Given the description of an element on the screen output the (x, y) to click on. 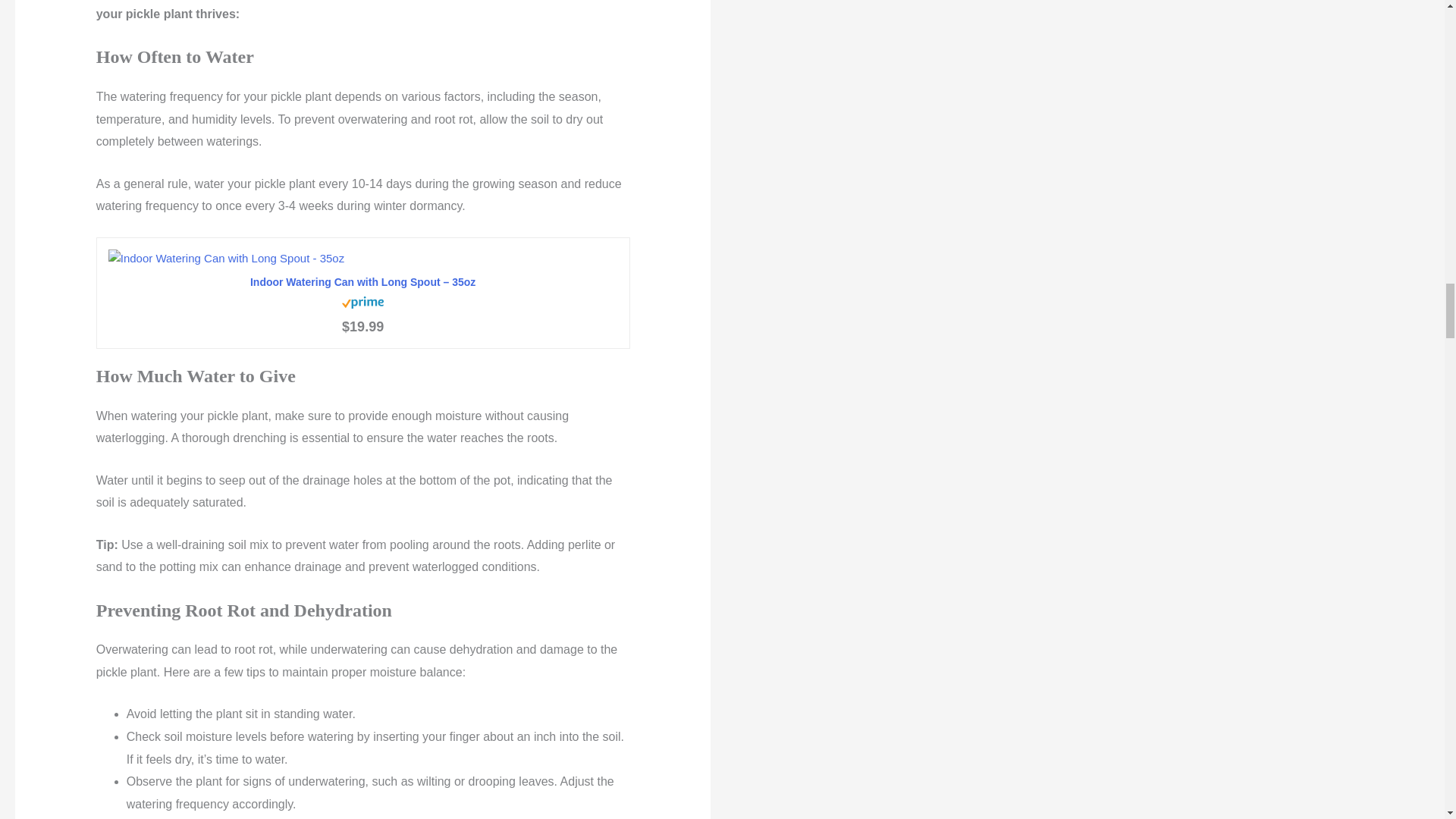
Indoor Watering Can with Long Spout - 35oz (362, 282)
Indoor Watering Can with Long Spout - 35oz (362, 258)
Amazon Prime (363, 300)
